Given the description of an element on the screen output the (x, y) to click on. 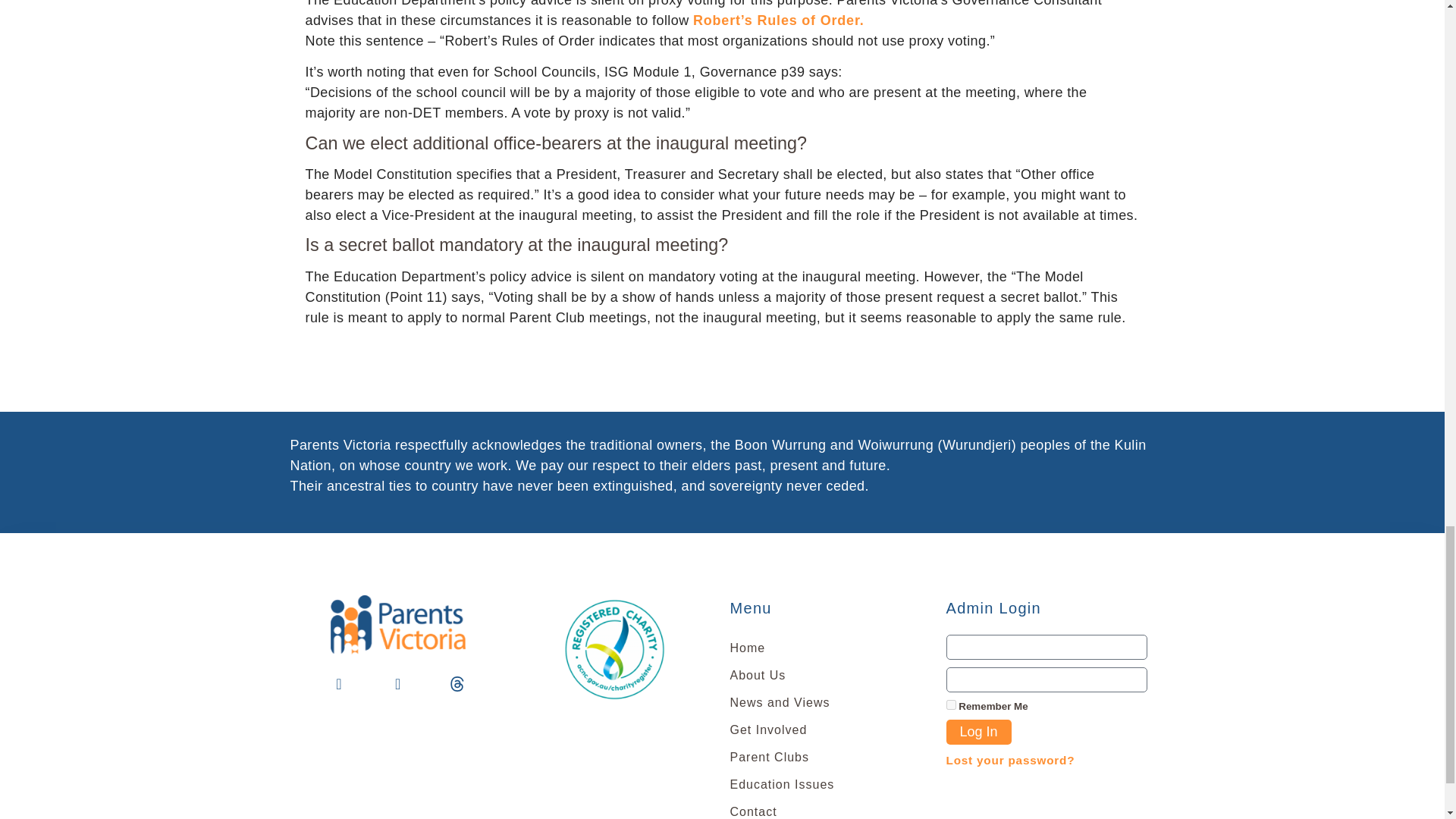
forever (951, 705)
